Given the description of an element on the screen output the (x, y) to click on. 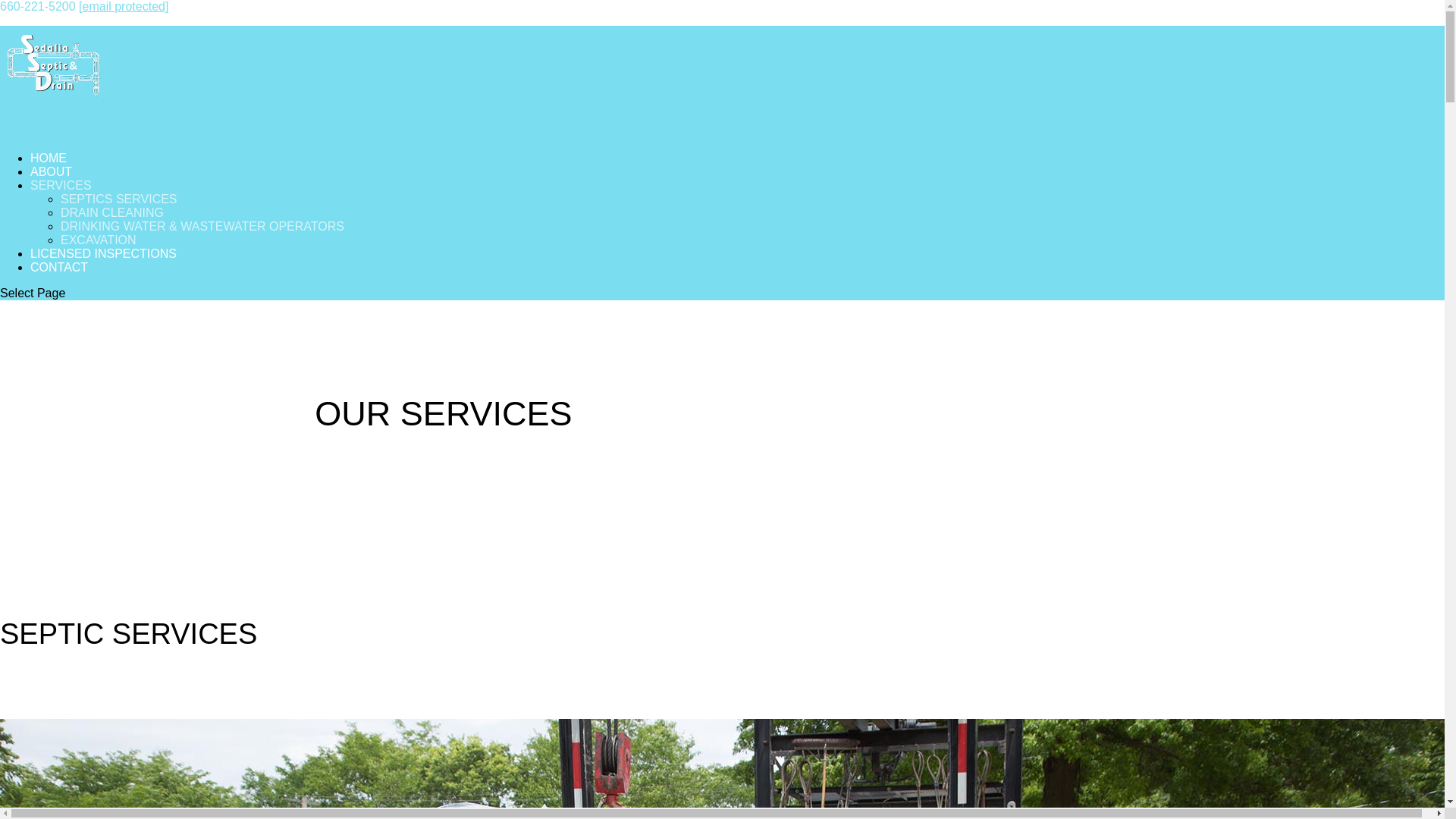
SEPTICS SERVICES (119, 198)
DRAIN CLEANING (112, 212)
CONTACT (58, 283)
ABOUT (50, 187)
LICENSED INSPECTIONS (103, 269)
SERVICES (60, 201)
EXCAVATION (98, 239)
